Given the description of an element on the screen output the (x, y) to click on. 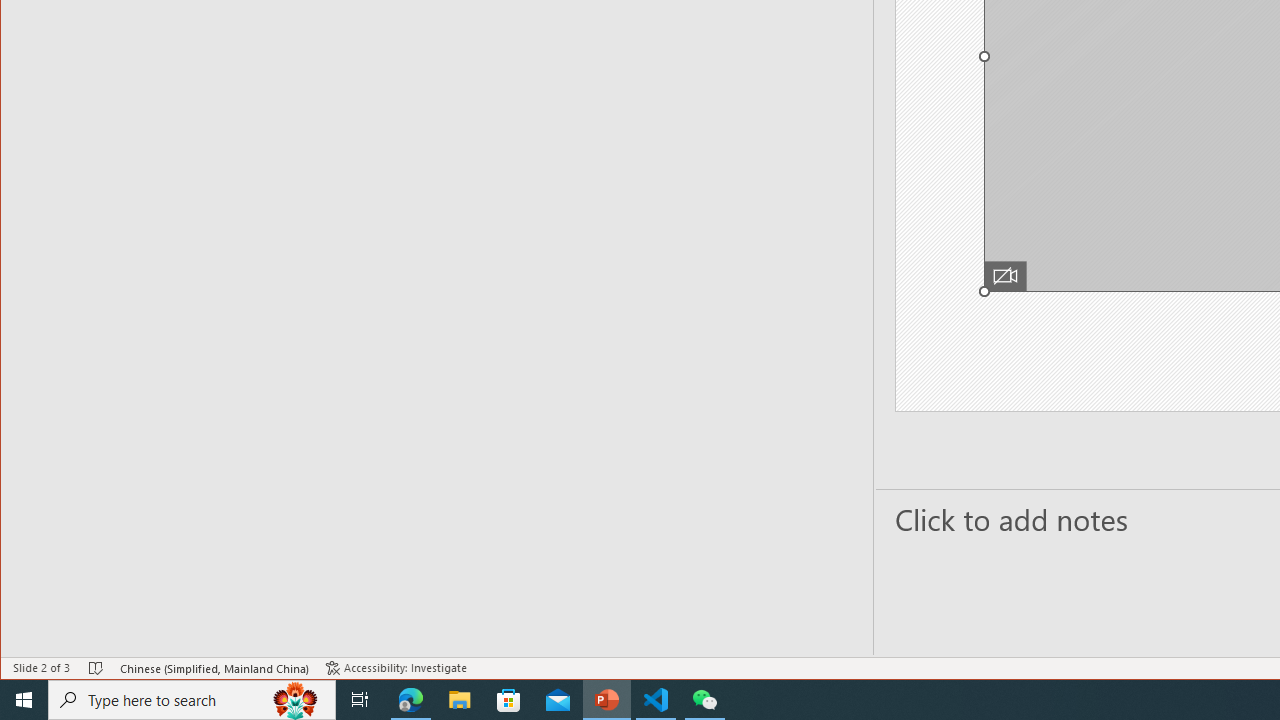
Spell Check No Errors (96, 668)
Search highlights icon opens search home window (295, 699)
PowerPoint - 1 running window (607, 699)
File Explorer (460, 699)
Microsoft Edge - 1 running window (411, 699)
Visual Studio Code - 1 running window (656, 699)
Start (24, 699)
WeChat - 1 running window (704, 699)
Type here to search (191, 699)
Task View (359, 699)
Accessibility Checker Accessibility: Investigate (395, 668)
Microsoft Store (509, 699)
